Given the description of an element on the screen output the (x, y) to click on. 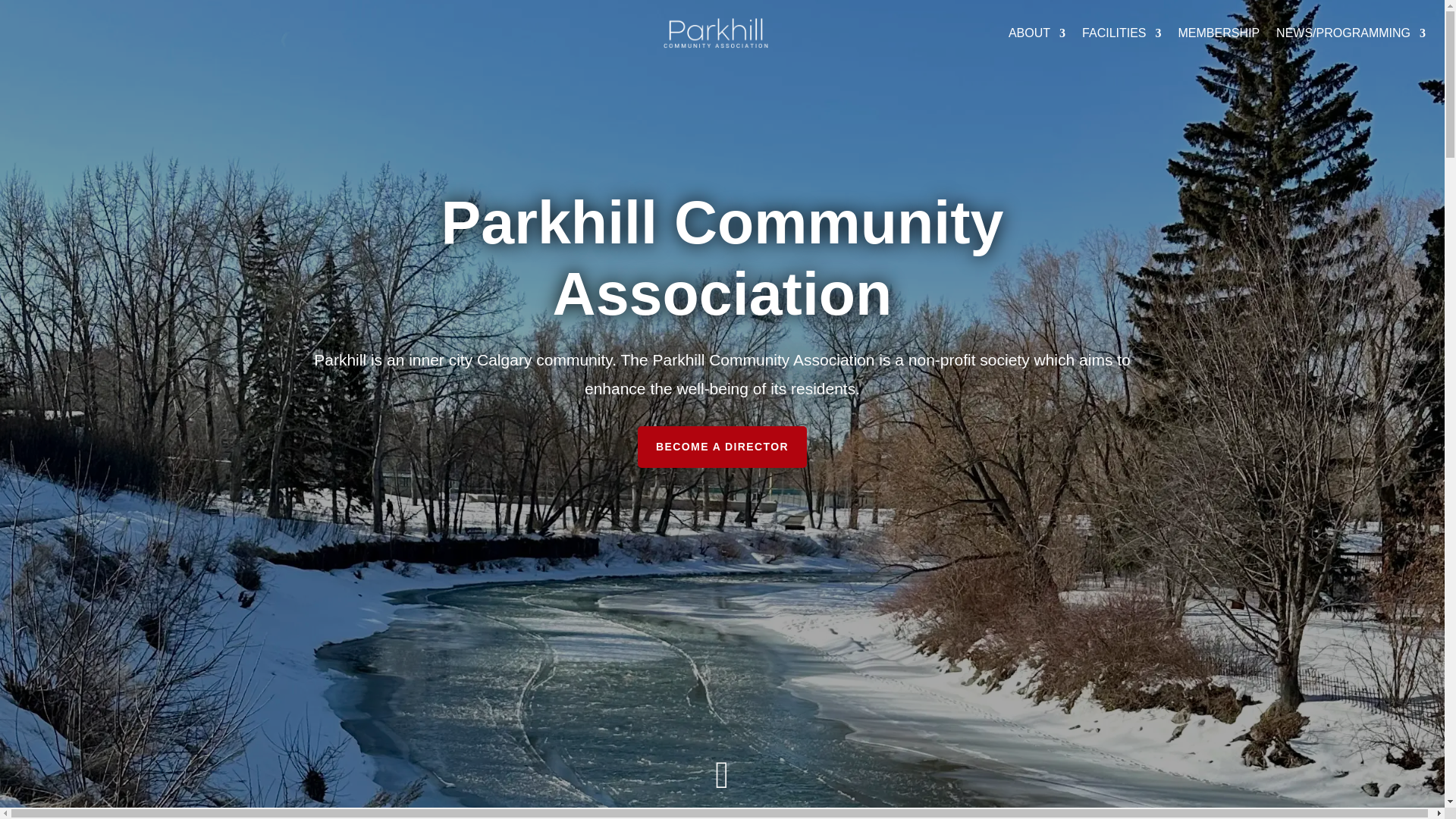
MEMBERSHIP (1218, 33)
FACILITIES (1120, 33)
ABOUT (1037, 33)
